Given the description of an element on the screen output the (x, y) to click on. 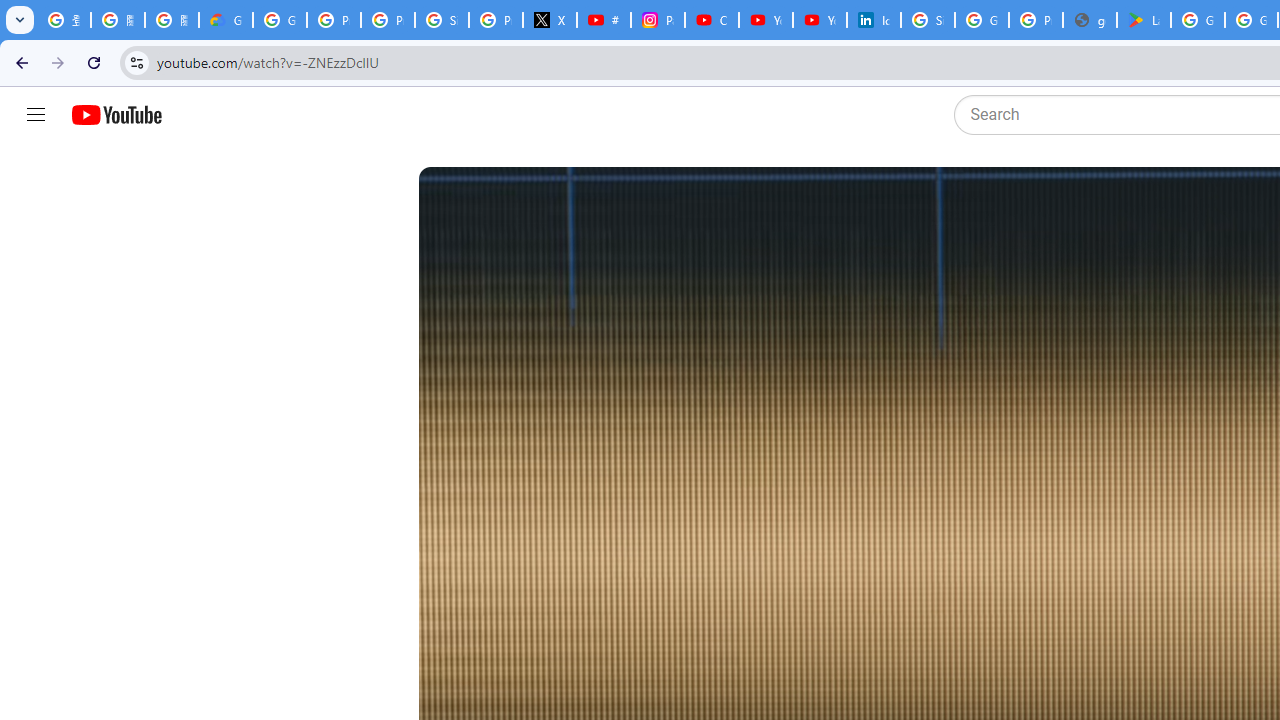
#nbabasketballhighlights - YouTube (604, 20)
Guide (35, 115)
Sign in - Google Accounts (927, 20)
